Given the description of an element on the screen output the (x, y) to click on. 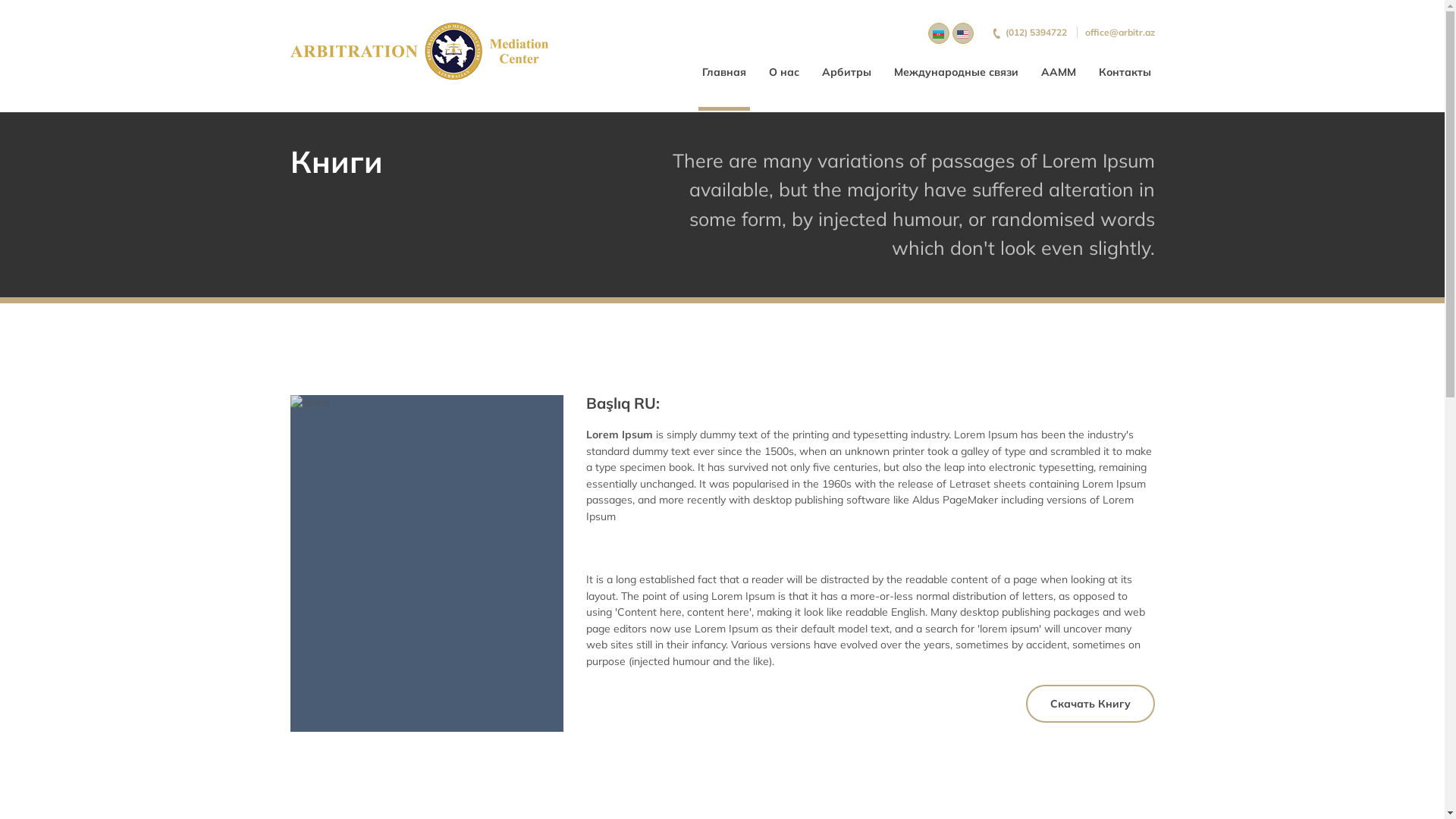
AAMM Element type: text (1058, 71)
office@arbitr.az Element type: text (1119, 31)
(012) 5394722 Element type: text (1028, 31)
SaulAttorneys Element type: text (418, 50)
